Given the description of an element on the screen output the (x, y) to click on. 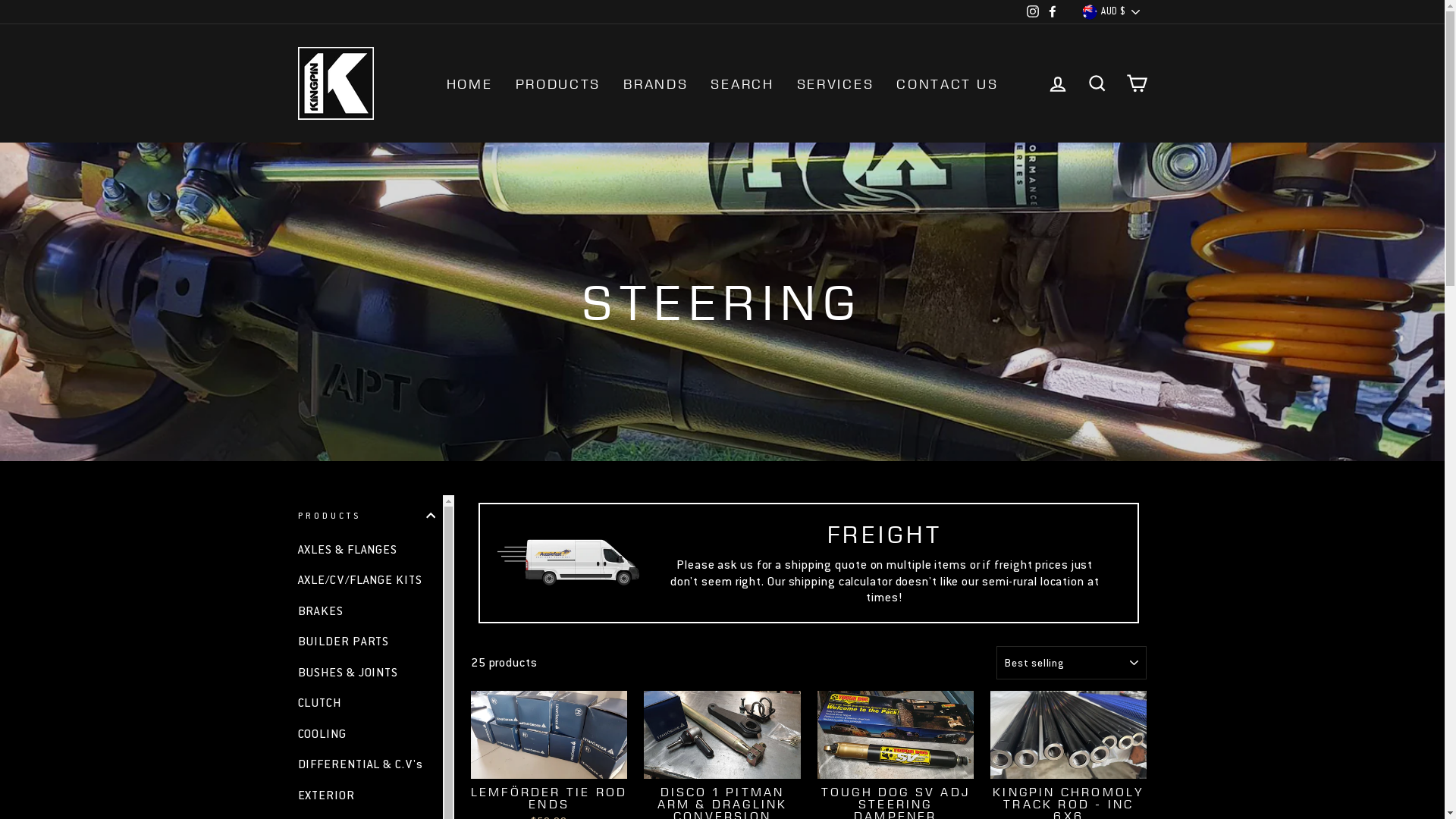
BUILDER PARTS Element type: text (365, 641)
Instagram Element type: text (1032, 11)
CART Element type: text (1135, 83)
AXLE/CV/FLANGE KITS Element type: text (365, 579)
LOG IN Element type: text (1056, 83)
PRODUCTS Element type: text (558, 83)
BRAKES Element type: text (365, 610)
CONTACT US Element type: text (946, 83)
PRODUCTS Element type: text (365, 515)
BUSHES & JOINTS Element type: text (365, 672)
HOME Element type: text (469, 83)
SERVICES Element type: text (835, 83)
DIFFERENTIAL & C.V's Element type: text (365, 764)
EXTERIOR Element type: text (365, 795)
AUD $ Element type: text (1112, 11)
AXLES & FLANGES Element type: text (365, 549)
BRANDS Element type: text (655, 83)
SEARCH Element type: text (741, 83)
CLUTCH Element type: text (365, 702)
Skip to content Element type: text (0, 0)
COOLING Element type: text (365, 733)
SEARCH Element type: text (1096, 83)
Facebook Element type: text (1052, 11)
